Given the description of an element on the screen output the (x, y) to click on. 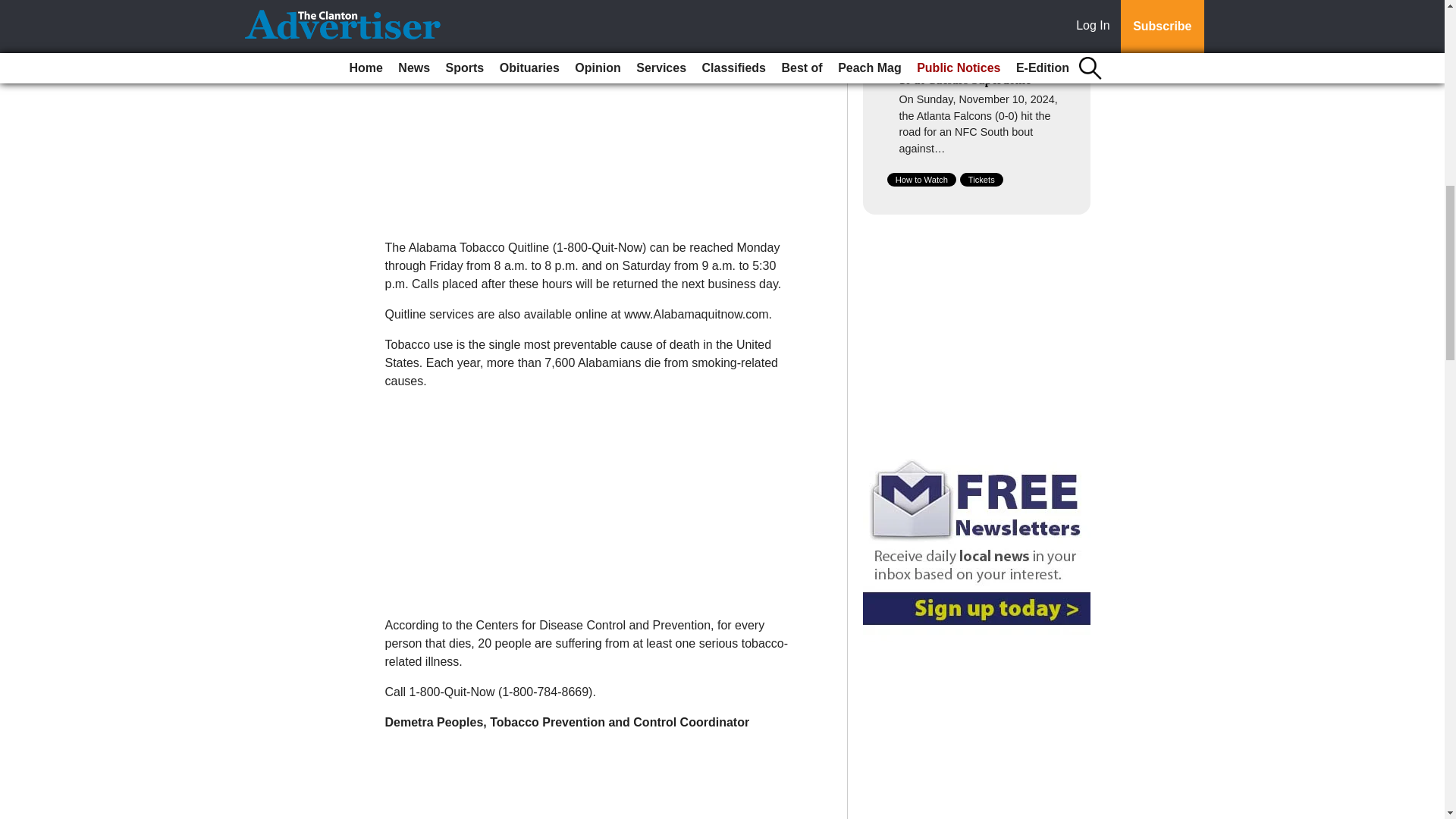
Tickets (981, 179)
How to Watch (921, 179)
